Given the description of an element on the screen output the (x, y) to click on. 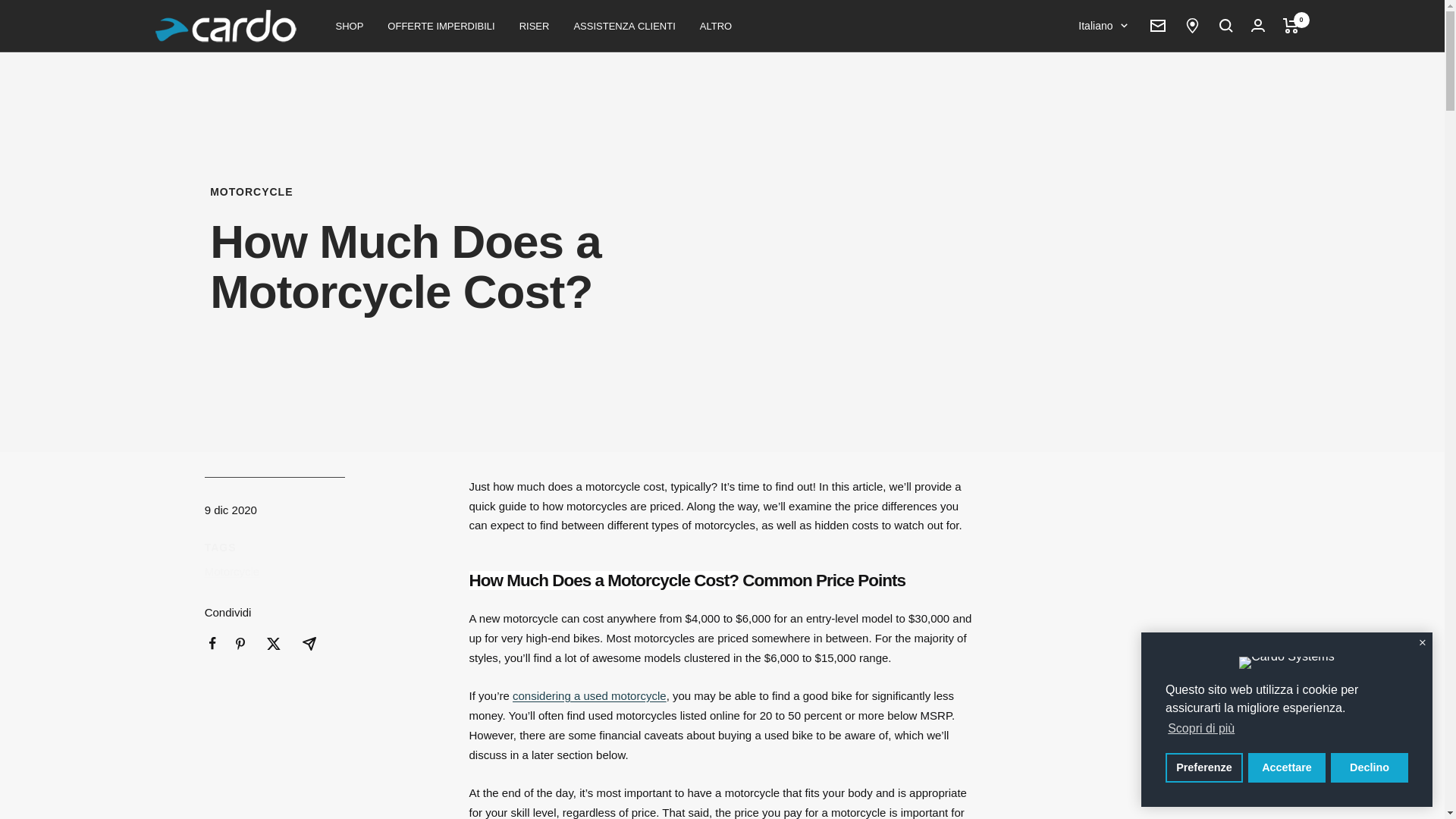
Assistenza clienti (624, 24)
Cardo Systems (224, 25)
Altro (716, 24)
0 (1290, 25)
Declino (1368, 767)
it (1093, 152)
de (1093, 127)
fr (1093, 103)
Offerte imperdibili (441, 24)
en (1093, 77)
SHOP (348, 24)
RISER (534, 24)
Accettare (1285, 767)
Newsletter (1157, 25)
Preferenze (1204, 767)
